Given the description of an element on the screen output the (x, y) to click on. 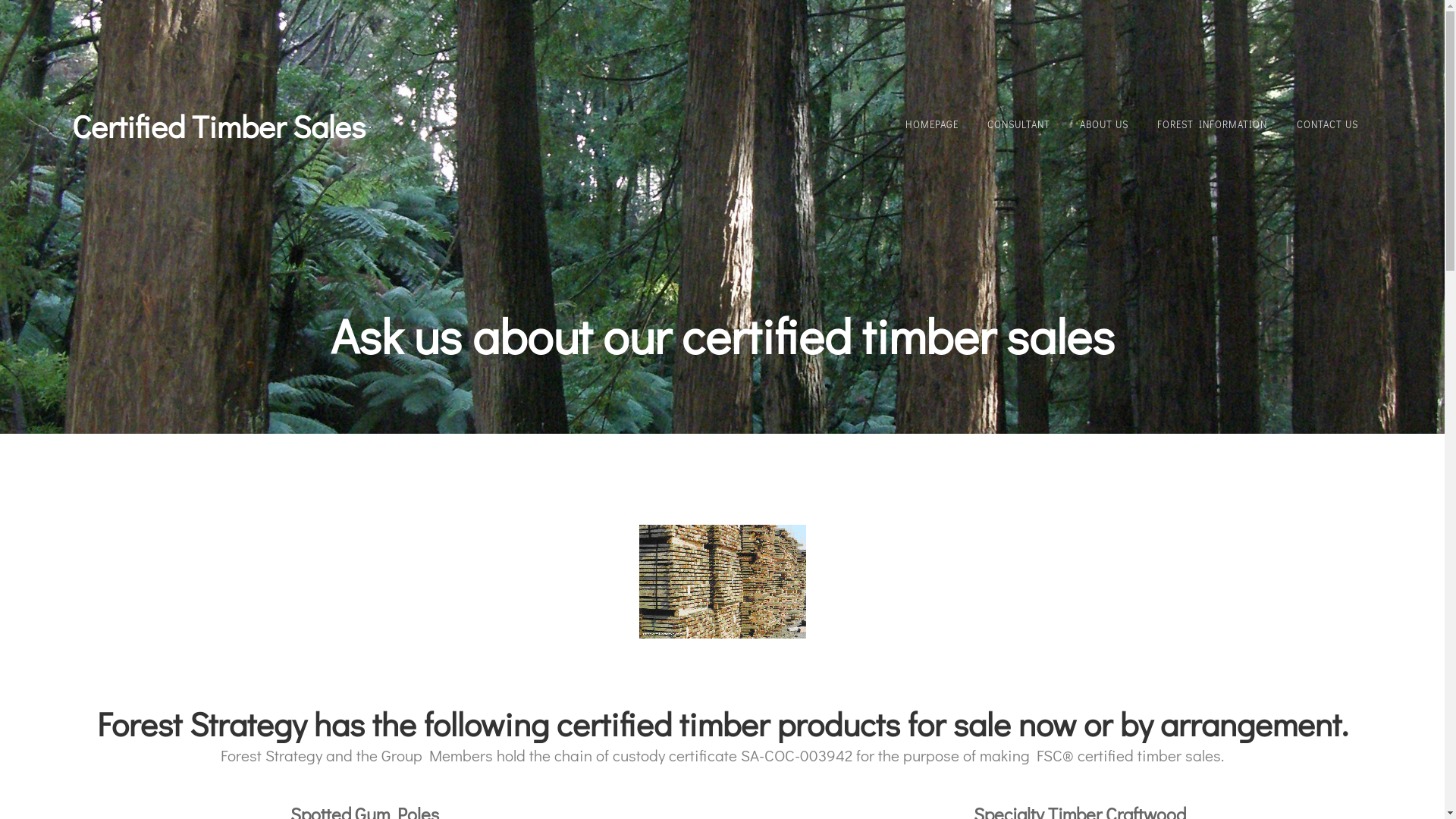
CONSULTANT Element type: text (1018, 124)
ABOUT US Element type: text (1103, 124)
FOREST INFORMATION Element type: text (1211, 124)
HOMEPAGE Element type: text (931, 124)
Certified Timber Sales Element type: text (218, 125)
CONTACT US Element type: text (1326, 124)
